Given the description of an element on the screen output the (x, y) to click on. 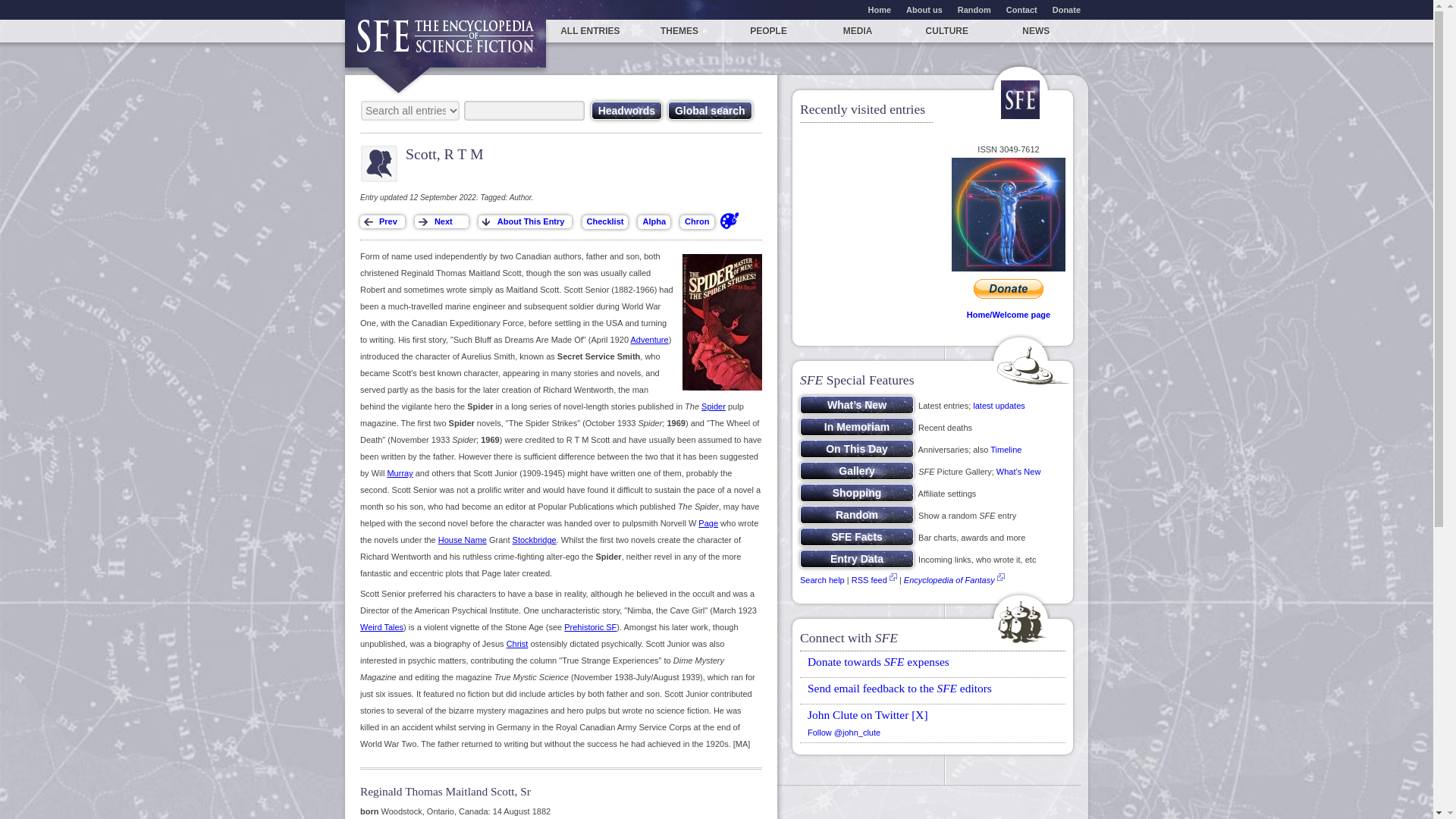
Random (974, 9)
Adventure (649, 338)
latest updates (998, 405)
PEOPLE (768, 30)
Prev (381, 221)
On This Day (856, 448)
NEWS (1036, 30)
Search help (821, 579)
Weird Tales (381, 626)
Headwords (626, 110)
Gallery (856, 470)
Murray (399, 472)
Encyclopedia of Fantasy (949, 579)
Shopping (856, 493)
RSS feed (868, 579)
